Given the description of an element on the screen output the (x, y) to click on. 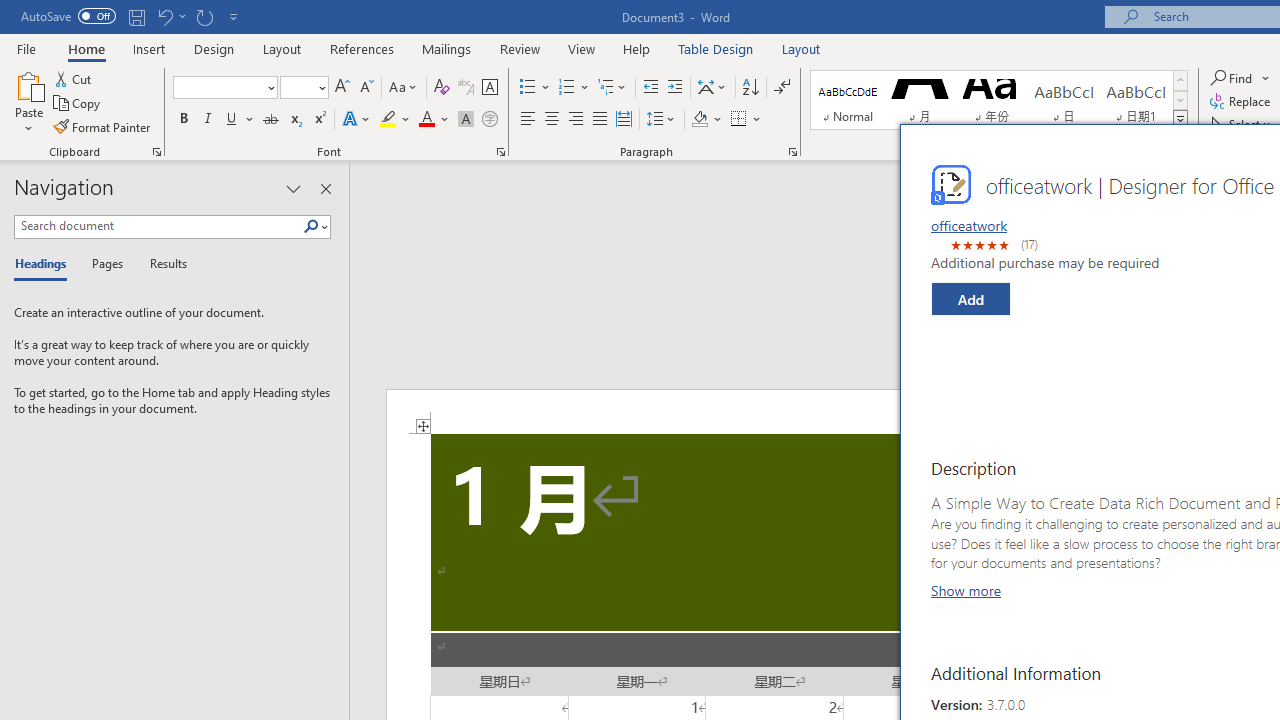
Undo Grow Font (164, 15)
